Given the description of an element on the screen output the (x, y) to click on. 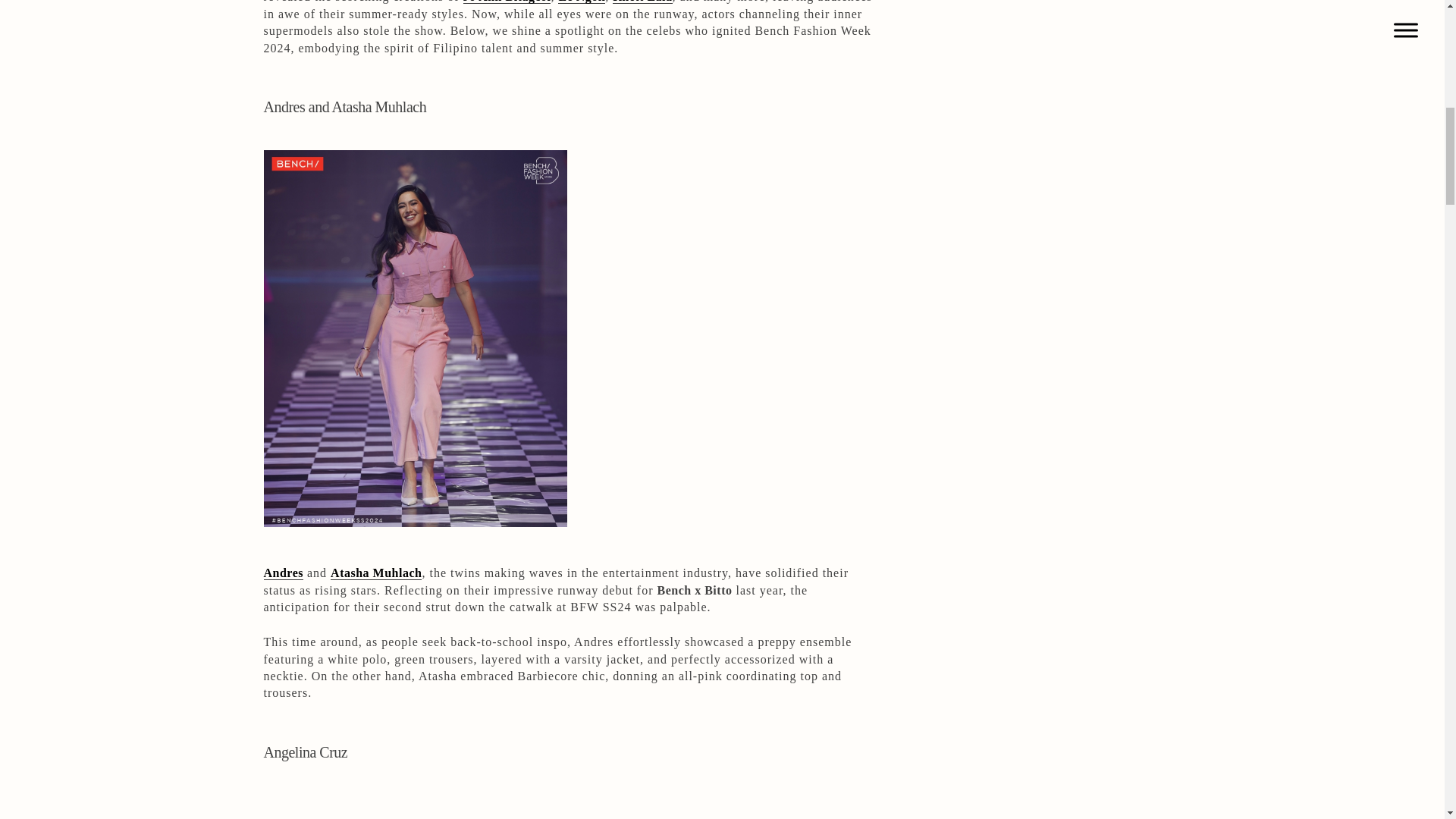
Jo Ann Bitagcol (507, 2)
Andres (283, 572)
Le Ngok (581, 2)
Rhett Eala (641, 2)
